Given the description of an element on the screen output the (x, y) to click on. 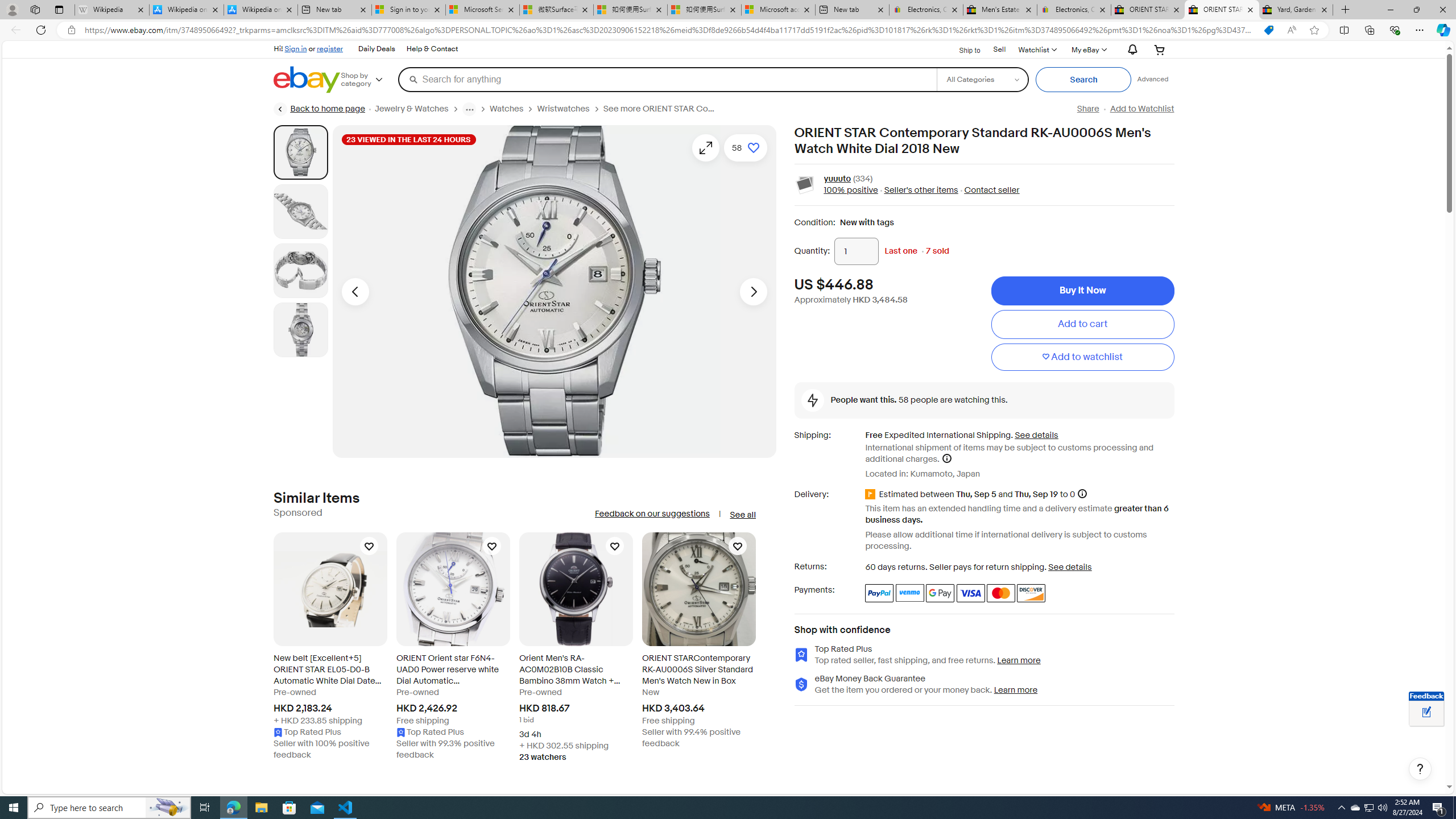
Next image - Item images thumbnails (753, 291)
Picture 4 of 4 (300, 329)
Google Pay (940, 592)
Learn more - Top Rated Plus - opens in a new window or tab (1019, 659)
Add to cart (1082, 324)
Leave feedback about your eBay ViewItem experience (1426, 713)
Picture 1 of 4 (300, 152)
AutomationID: gh-eb-Alerts (1131, 49)
My eBay (1088, 49)
